Given the description of an element on the screen output the (x, y) to click on. 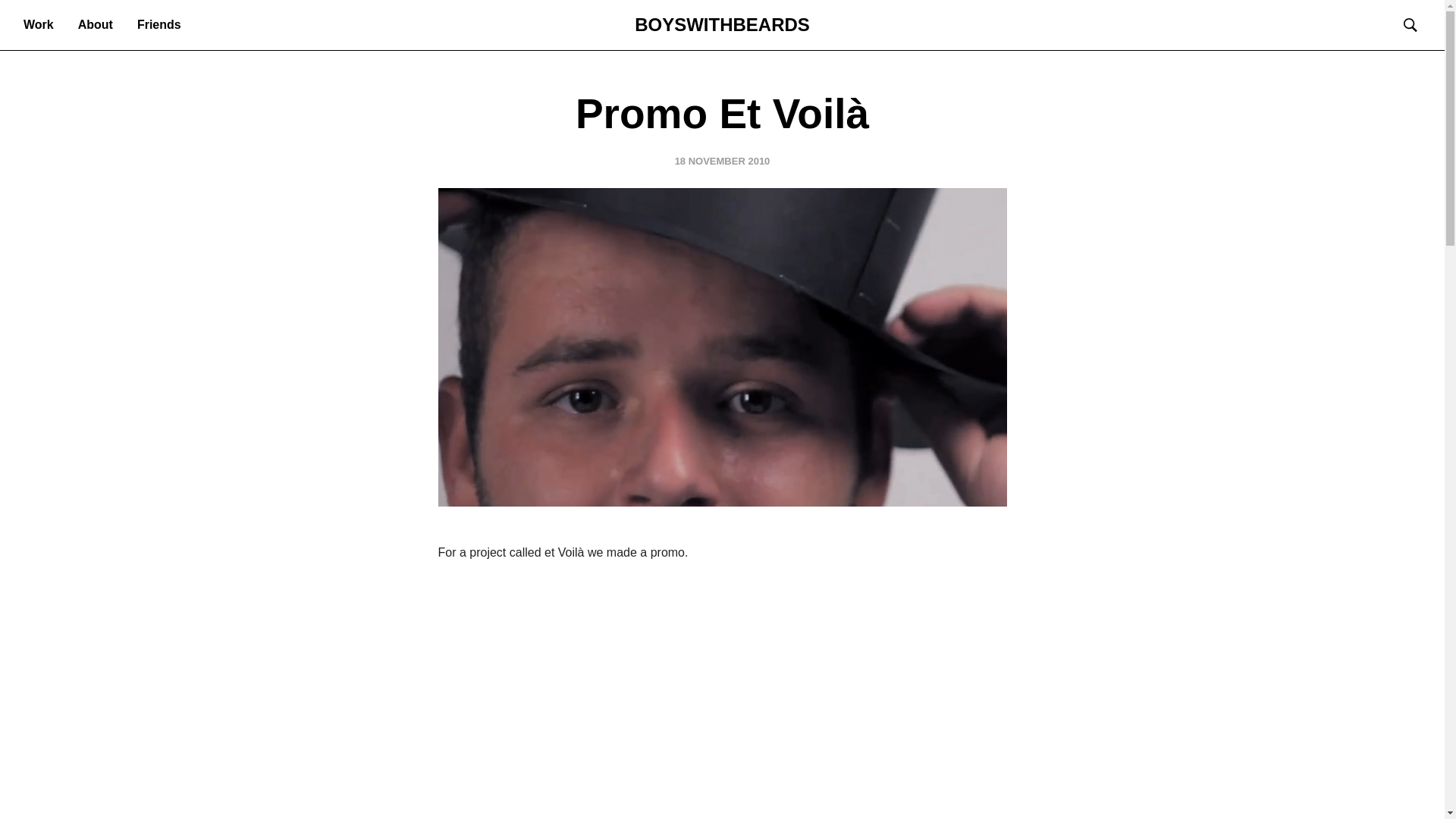
Work (39, 24)
Friends (159, 24)
BOYSWITHBEARDS (722, 24)
Search (45, 18)
18 NOVEMBER 2010 (722, 161)
About (95, 24)
